Given the description of an element on the screen output the (x, y) to click on. 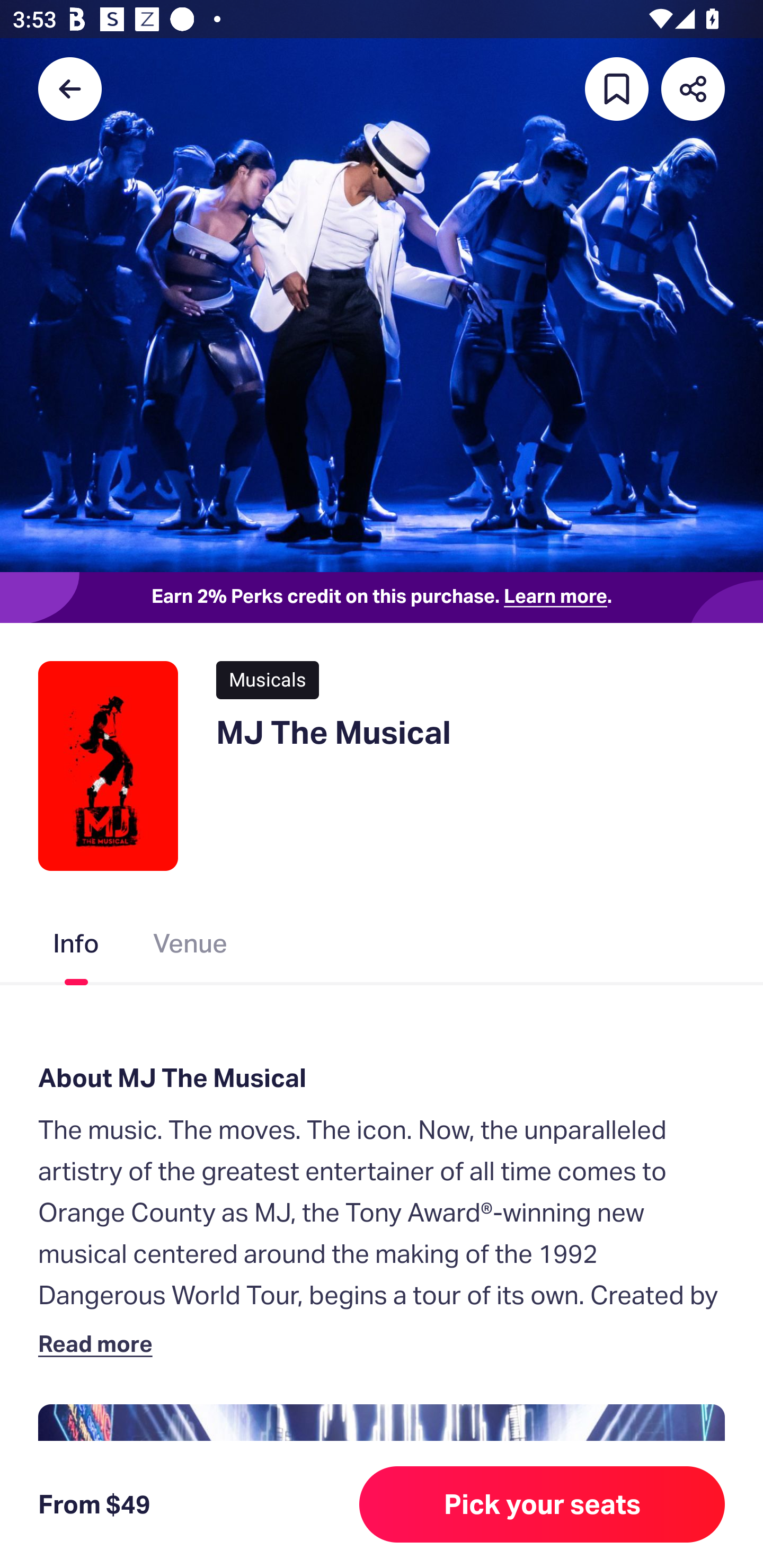
Earn 2% Perks credit on this purchase. Learn more. (381, 597)
Venue (190, 946)
About MJ The Musical (381, 1077)
Read more (99, 1342)
Pick your seats (541, 1504)
